Given the description of an element on the screen output the (x, y) to click on. 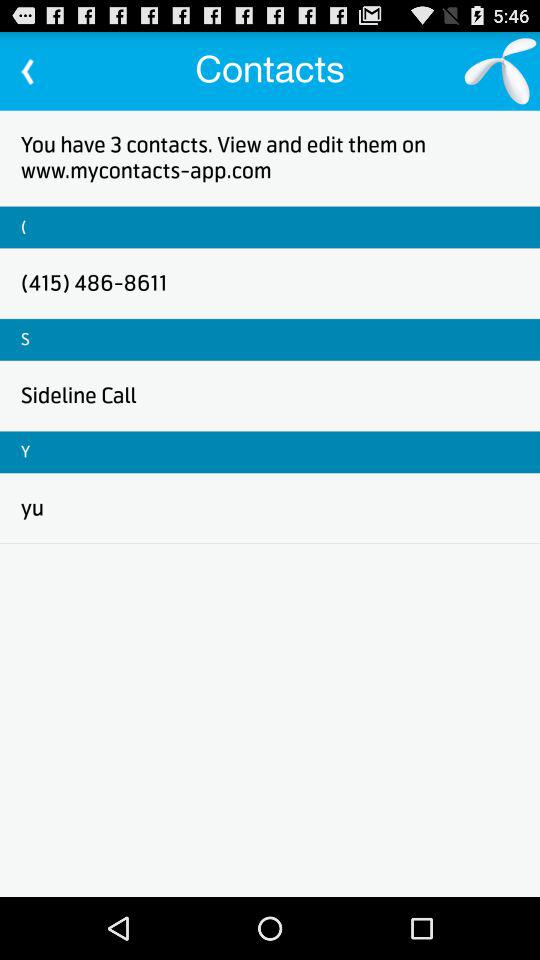
click the item above the yu item (25, 451)
